Given the description of an element on the screen output the (x, y) to click on. 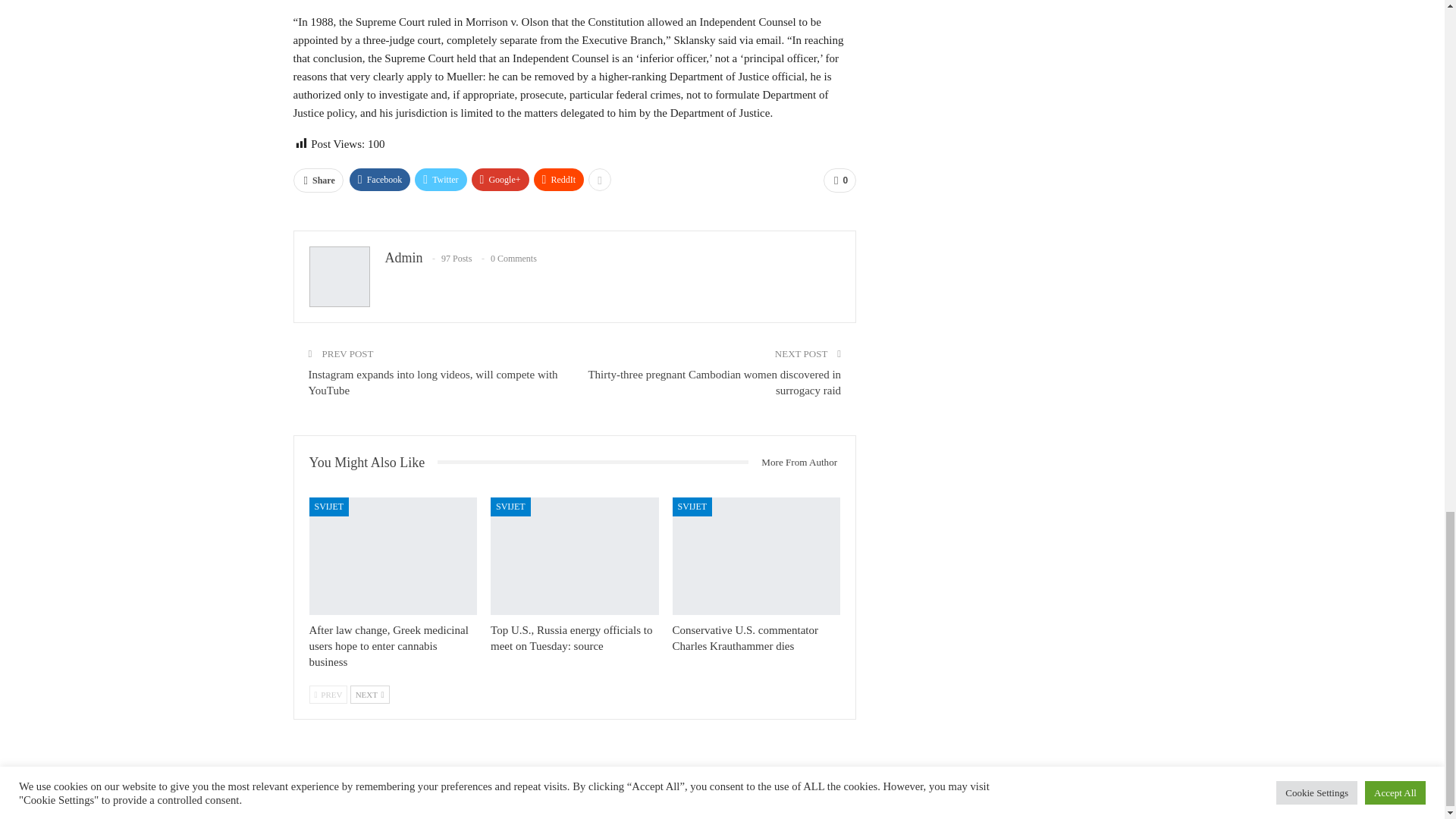
Twitter (439, 179)
Previous (327, 694)
Facebook (379, 179)
Conservative U.S. commentator Charles Krauthammer dies (745, 637)
ReddIt (559, 179)
Top U.S., Russia energy officials to meet on Tuesday: source (571, 637)
Conservative U.S. commentator Charles Krauthammer dies (756, 556)
Next (370, 694)
You Might Also Like (373, 462)
0 (840, 180)
Top U.S., Russia energy officials to meet on Tuesday: source (574, 556)
Admin (404, 257)
